Given the description of an element on the screen output the (x, y) to click on. 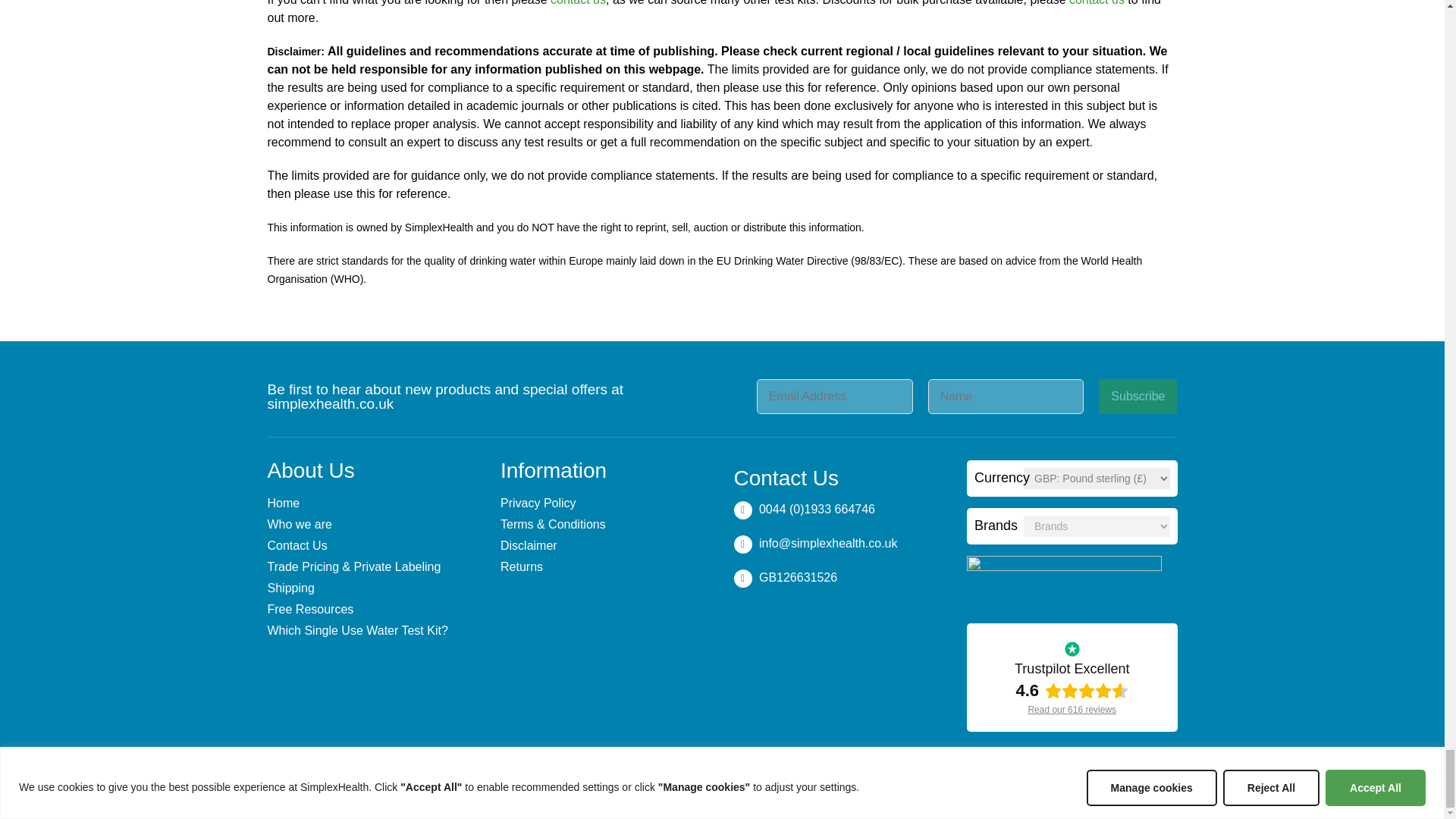
Subscribe (1137, 396)
